Given the description of an element on the screen output the (x, y) to click on. 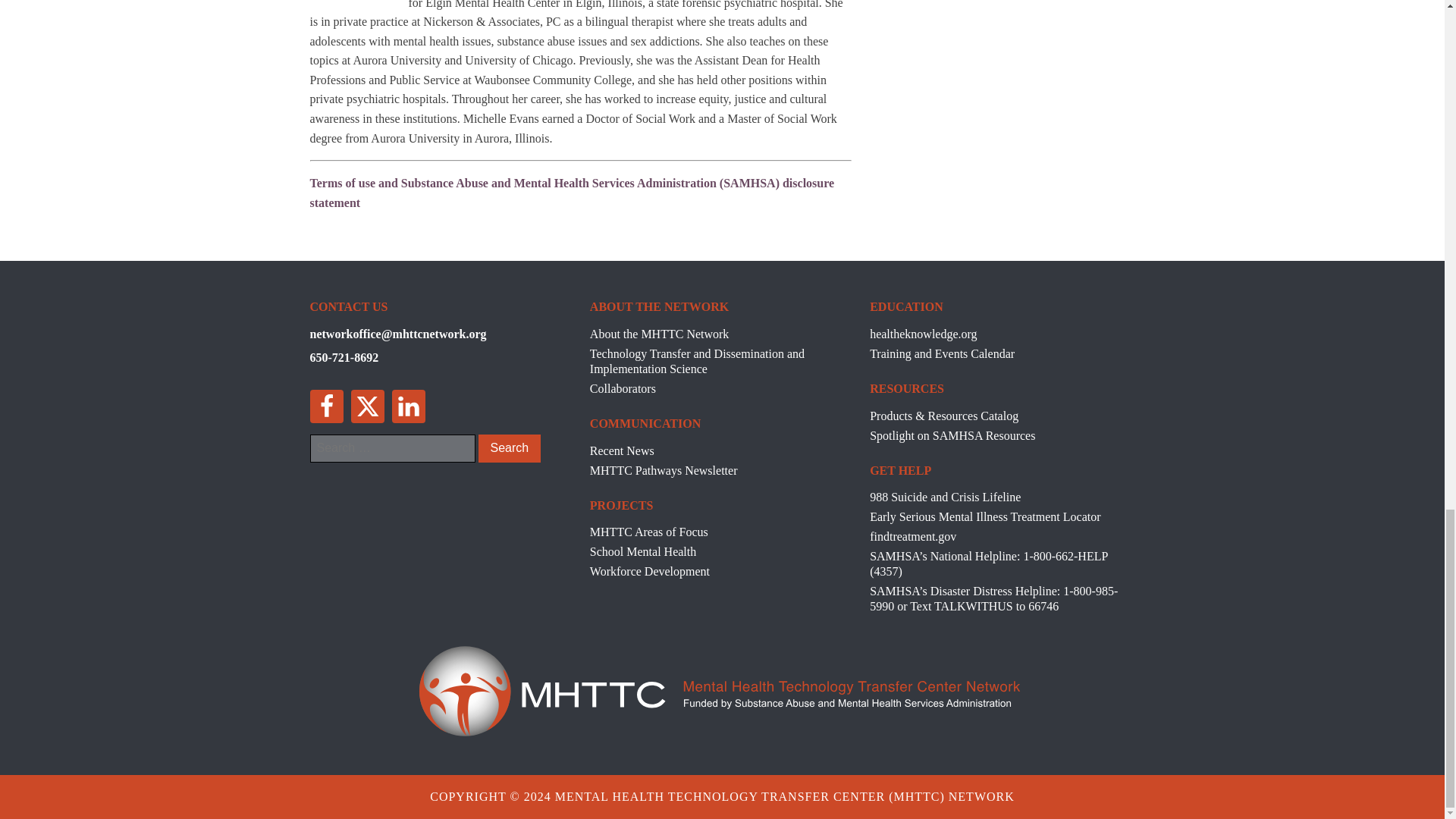
Search (508, 447)
Search (508, 447)
